Given the description of an element on the screen output the (x, y) to click on. 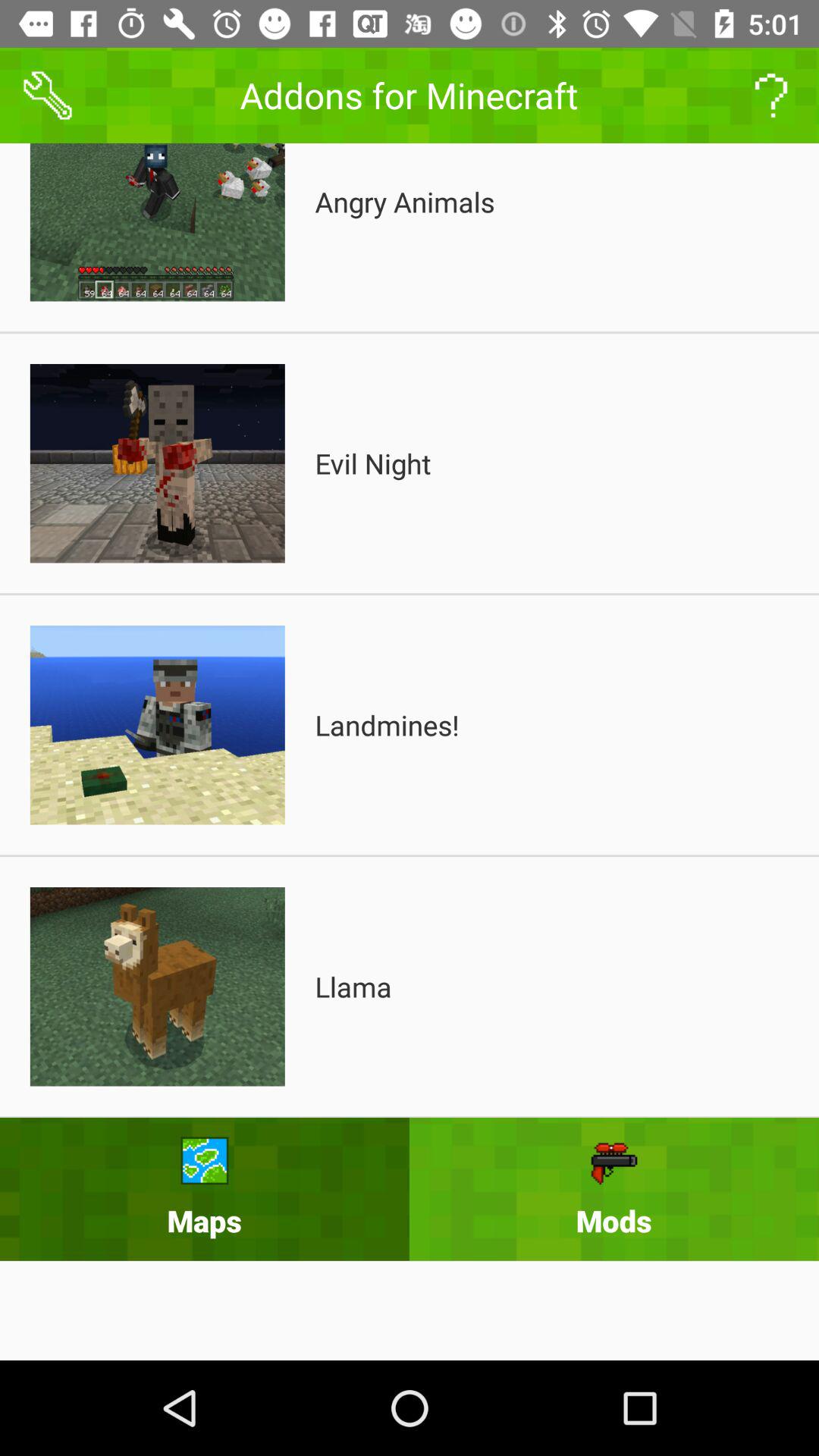
tap the landmines! (387, 724)
